Given the description of an element on the screen output the (x, y) to click on. 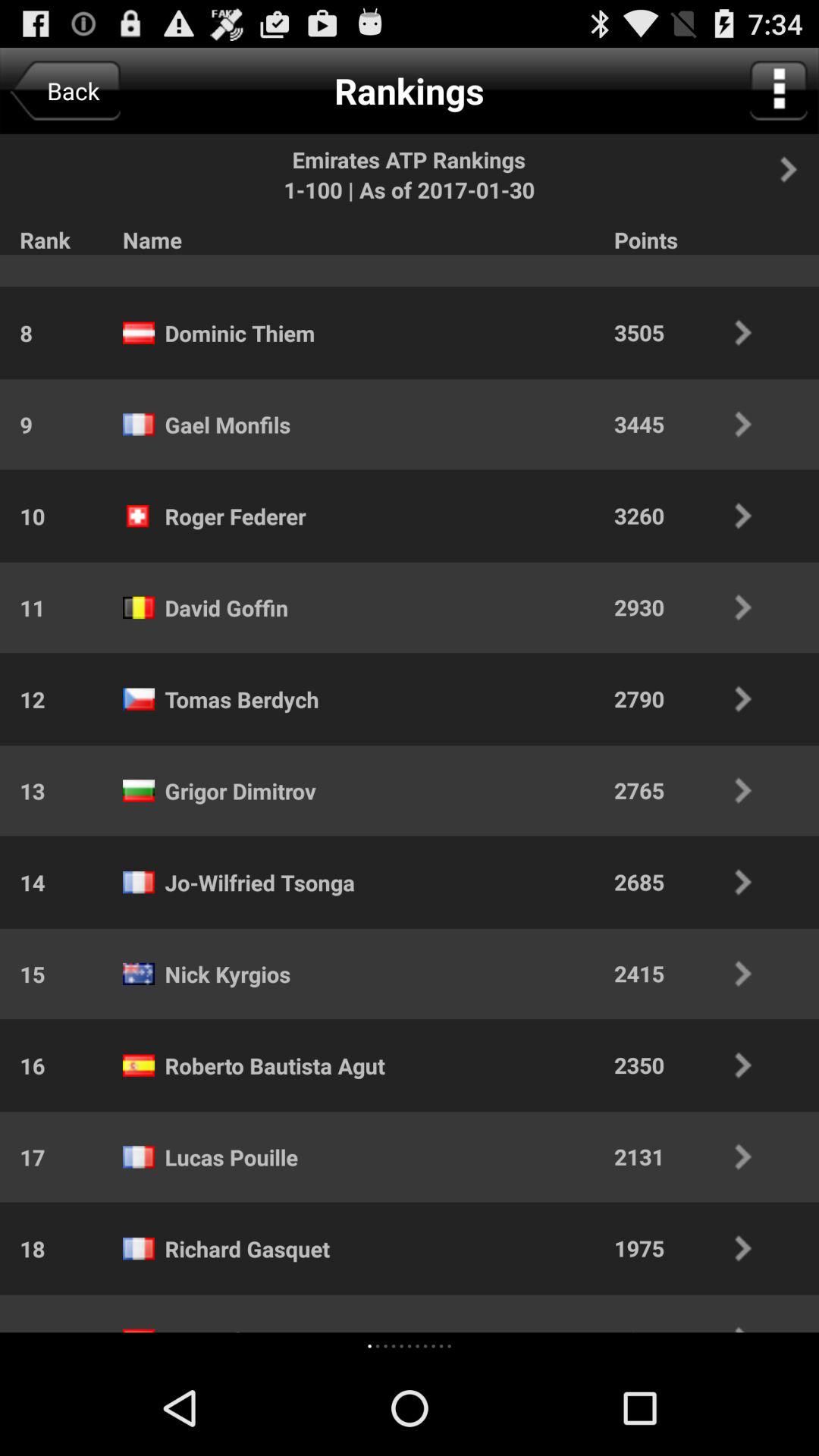
scroll to 12 icon (22, 699)
